Given the description of an element on the screen output the (x, y) to click on. 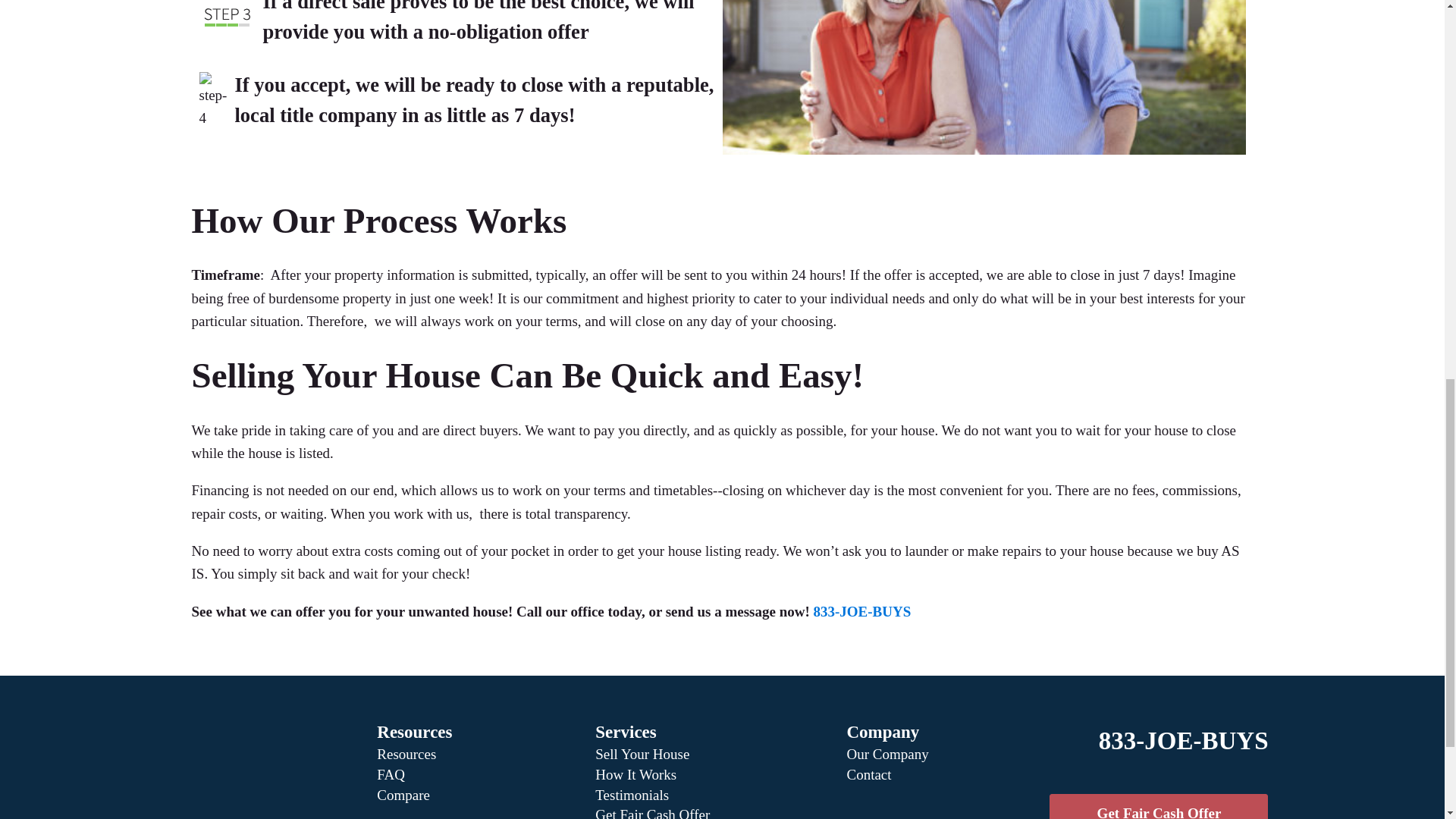
Compare (403, 795)
Resources (406, 754)
Contact (868, 774)
833-JOE-BUYS (1183, 741)
833-JOE-BUYS (861, 611)
How It Works (636, 774)
Our Company (886, 754)
Get Fair Cash Offer (652, 812)
FAQ (390, 774)
Sell Your House (641, 754)
